Given the description of an element on the screen output the (x, y) to click on. 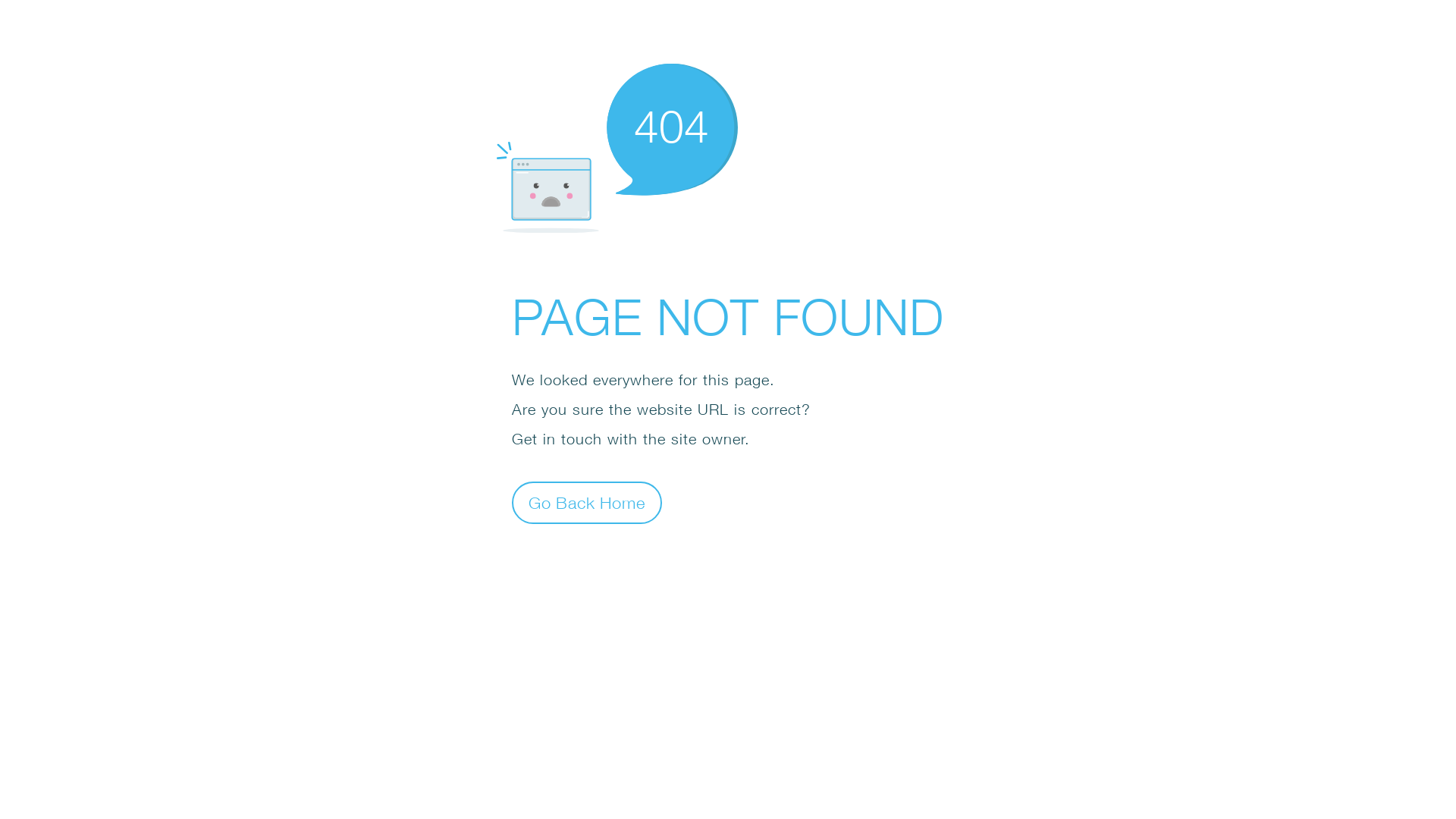
Go Back Home Element type: text (586, 502)
